Given the description of an element on the screen output the (x, y) to click on. 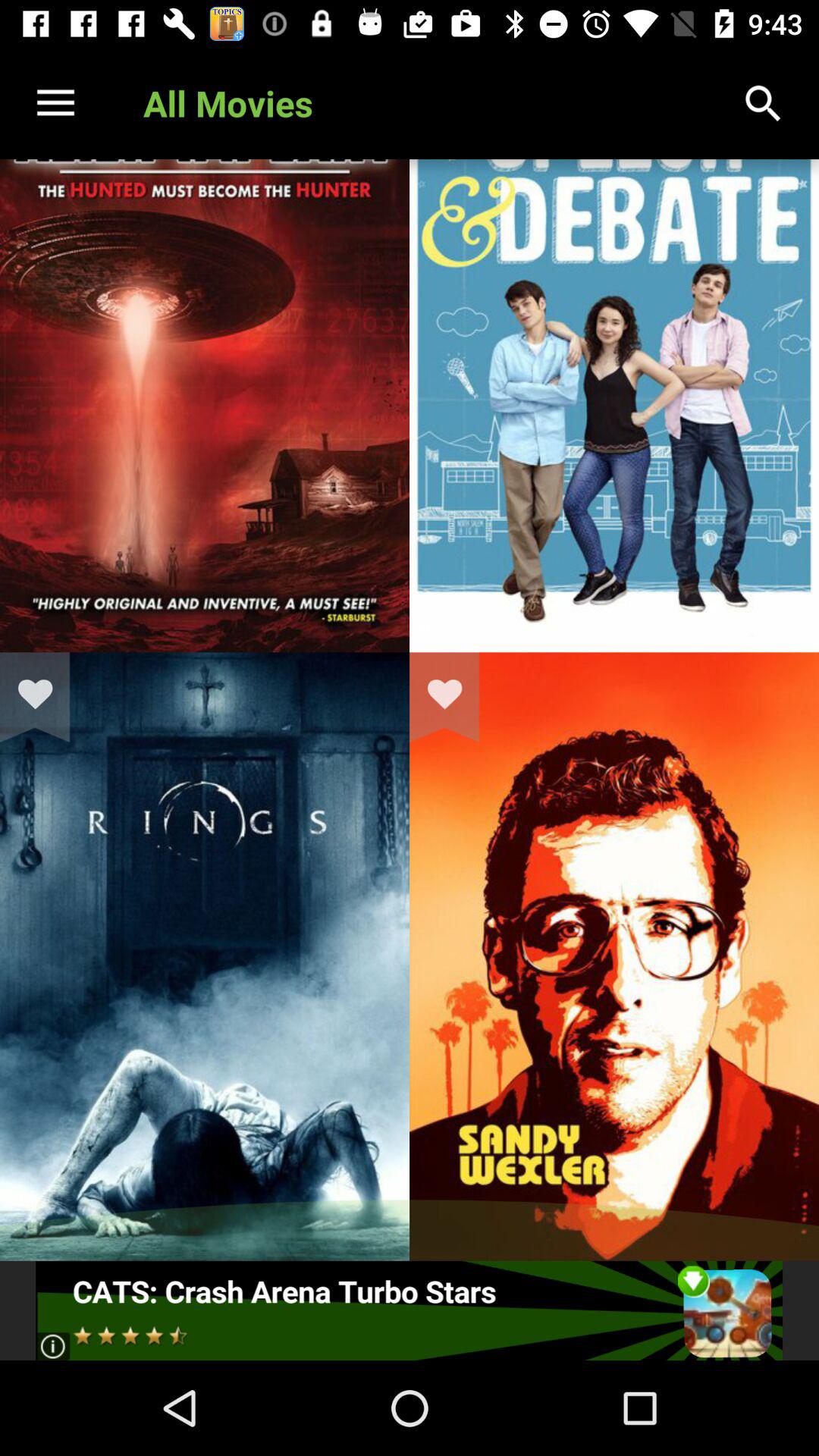
add to favorites (454, 697)
